Given the description of an element on the screen output the (x, y) to click on. 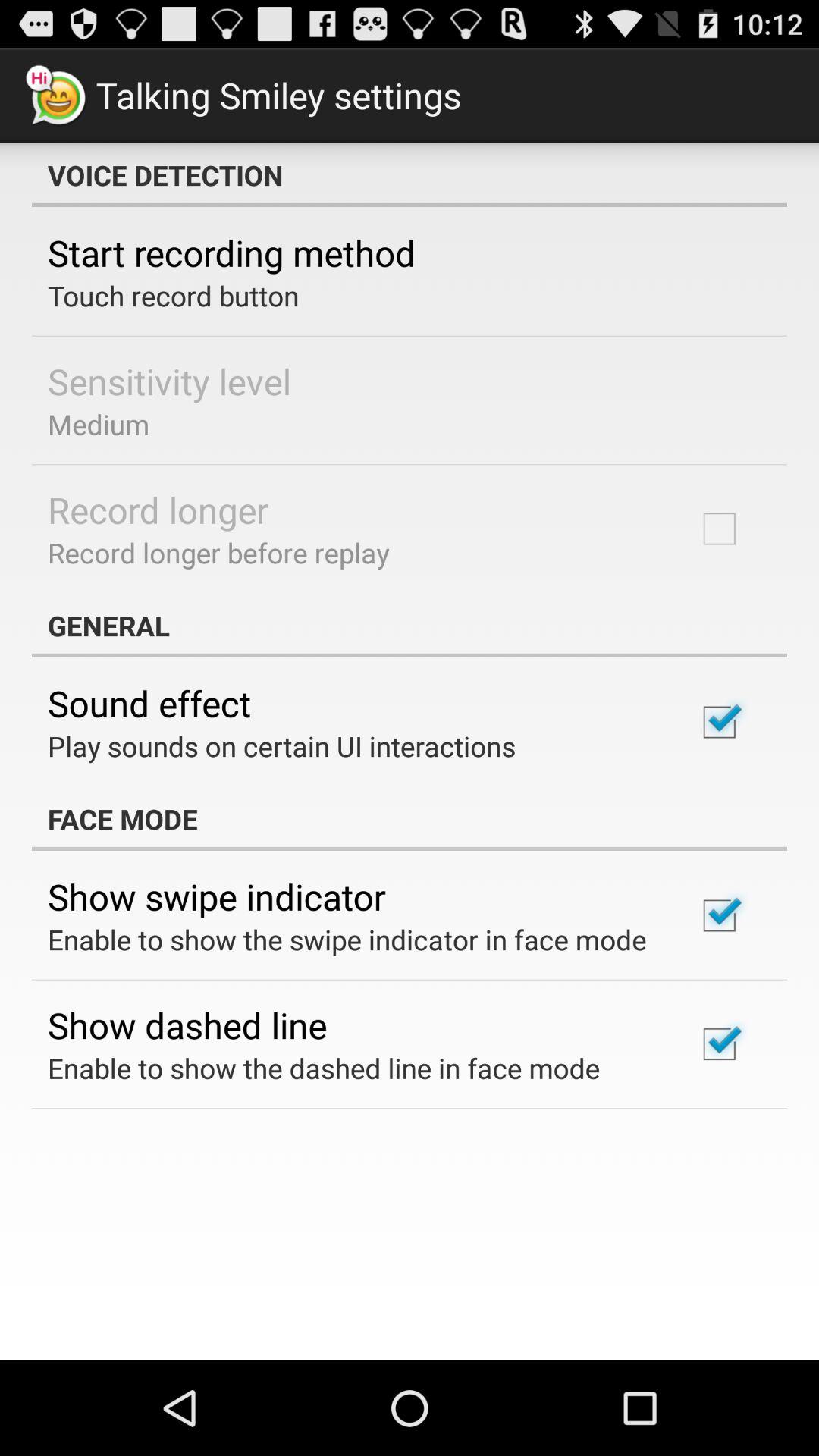
launch play sounds on app (281, 745)
